Given the description of an element on the screen output the (x, y) to click on. 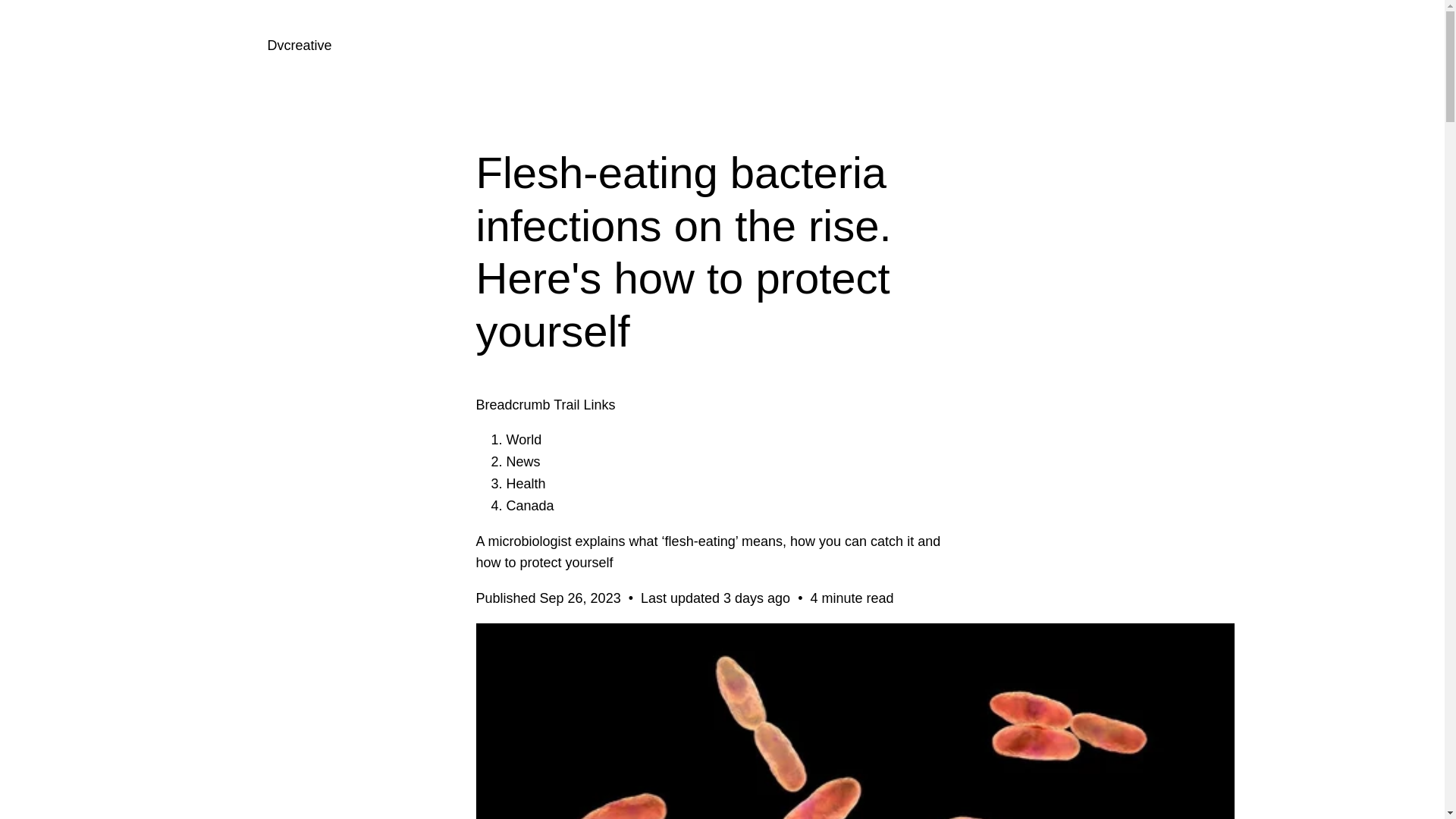
Dvcreative (298, 45)
